Given the description of an element on the screen output the (x, y) to click on. 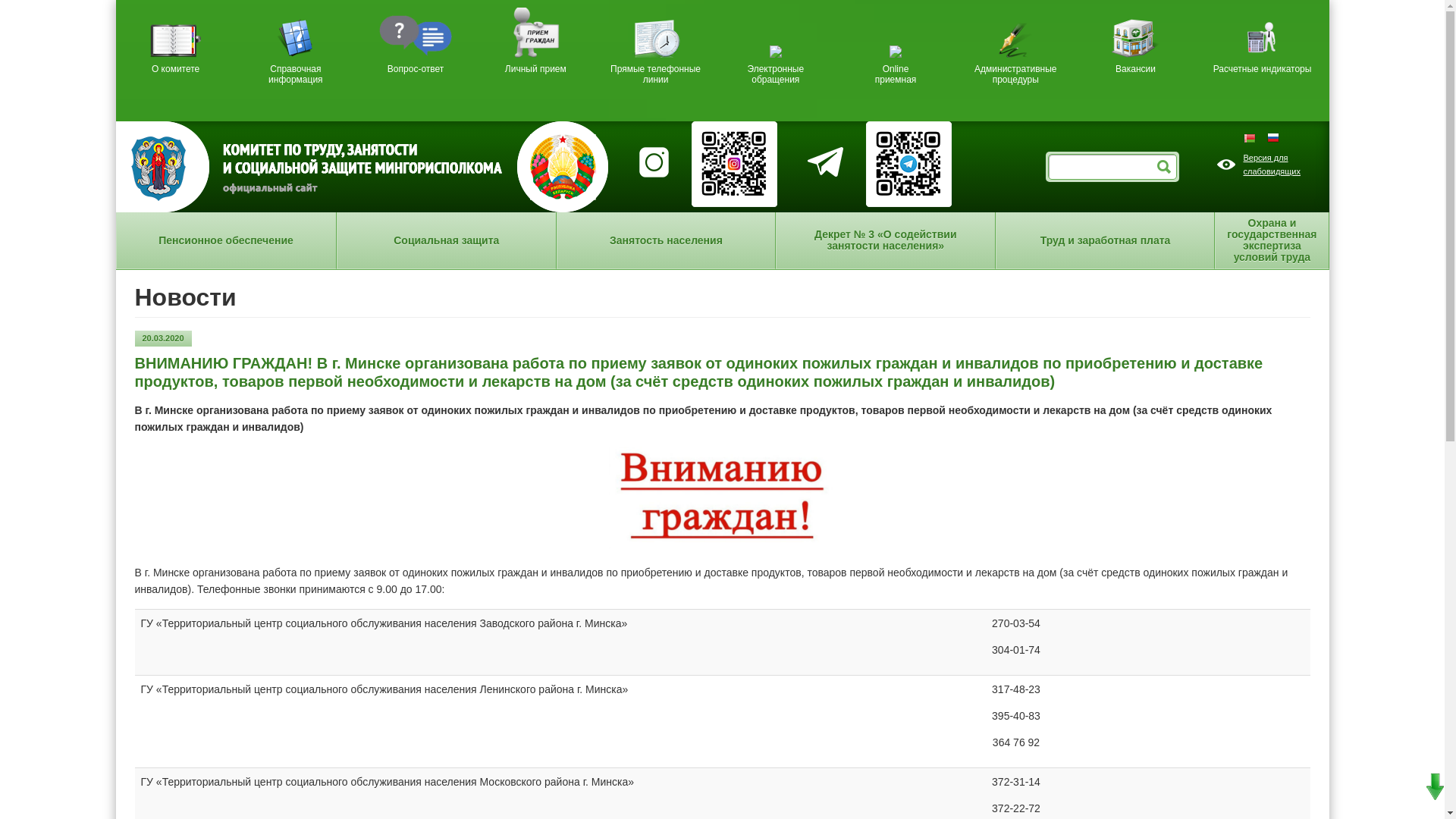
Russian Element type: hover (1272, 136)
Belarusian Element type: hover (1255, 136)
